Given the description of an element on the screen output the (x, y) to click on. 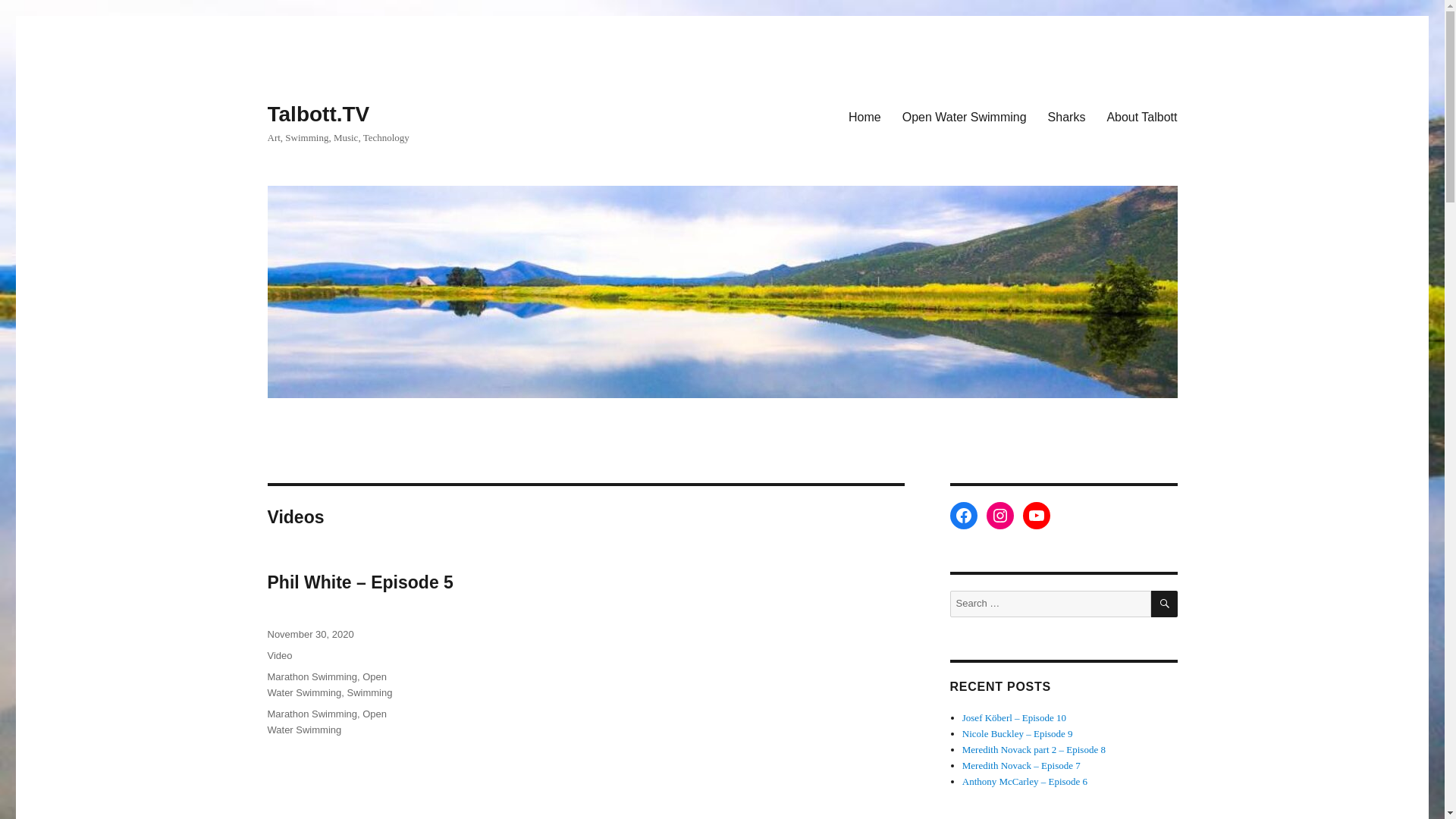
Sharks (1066, 116)
Talbott.TV (317, 114)
November 30, 2020 (309, 633)
Open Water Swimming (963, 116)
Open Water Swimming (326, 721)
Marathon Swimming (311, 676)
Open Water Swimming (326, 684)
Home (864, 116)
About Talbott (1142, 116)
Swimming (370, 692)
Phil White - Talbott TV - Episode 5 (676, 722)
Marathon Swimming (311, 713)
Video (279, 655)
